Given the description of an element on the screen output the (x, y) to click on. 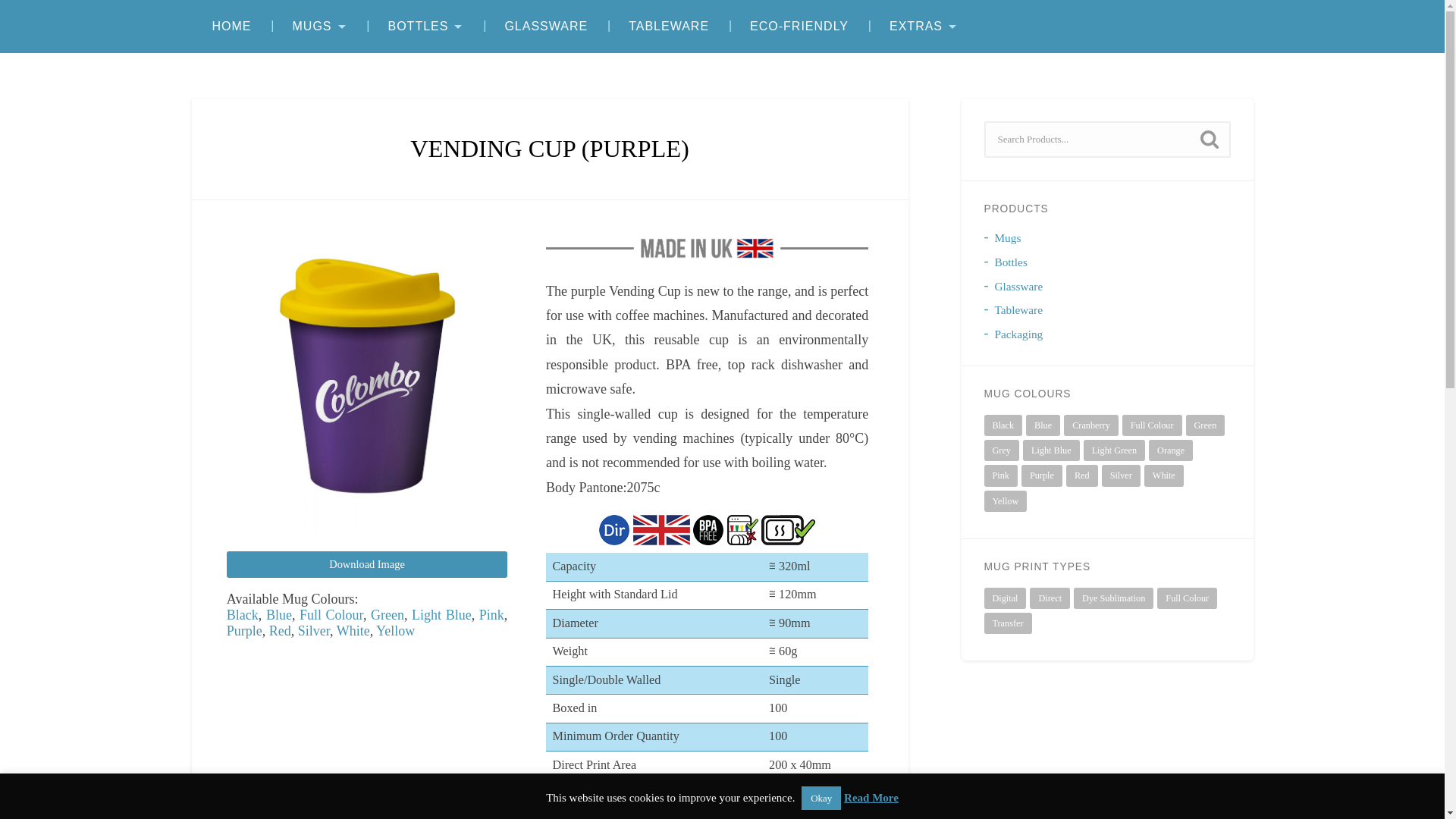
GLASSWARE (545, 26)
Direct Print Available (613, 530)
BPA Free (708, 530)
ECO-FRIENDLY (799, 26)
Top Rack Domestic Dishwasher Safe (742, 530)
Microwave Safe (788, 530)
HOME (230, 26)
Search (1209, 139)
Manufactured in the UK (661, 530)
Search (1209, 139)
EXTRAS (923, 26)
MUGS (318, 26)
TABLEWARE (668, 26)
Manufactured in the UK (706, 248)
BOTTLES (424, 26)
